Given the description of an element on the screen output the (x, y) to click on. 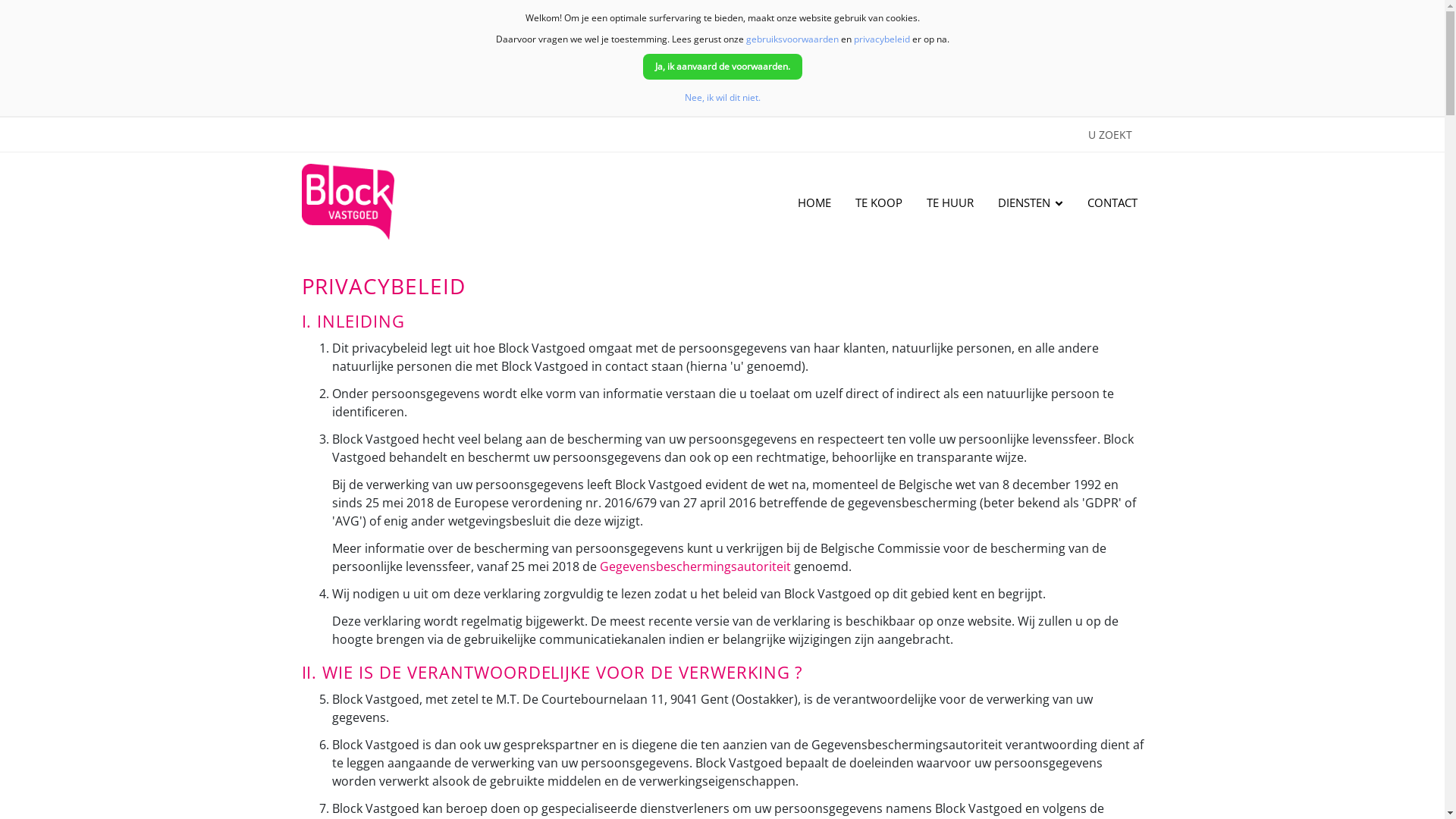
Gegevensbeschermingsautoriteit Element type: text (694, 566)
privacybeleid Element type: text (881, 38)
CONTACT Element type: text (1112, 201)
gebruiksvoorwaarden Element type: text (792, 38)
Nee, ik wil dit niet. Element type: text (721, 97)
HOME Element type: text (814, 201)
U ZOEKT Element type: text (1109, 134)
TE KOOP Element type: text (878, 201)
Ja, ik aanvaard de voorwaarden. Element type: text (722, 66)
TE HUUR Element type: text (949, 201)
